Given the description of an element on the screen output the (x, y) to click on. 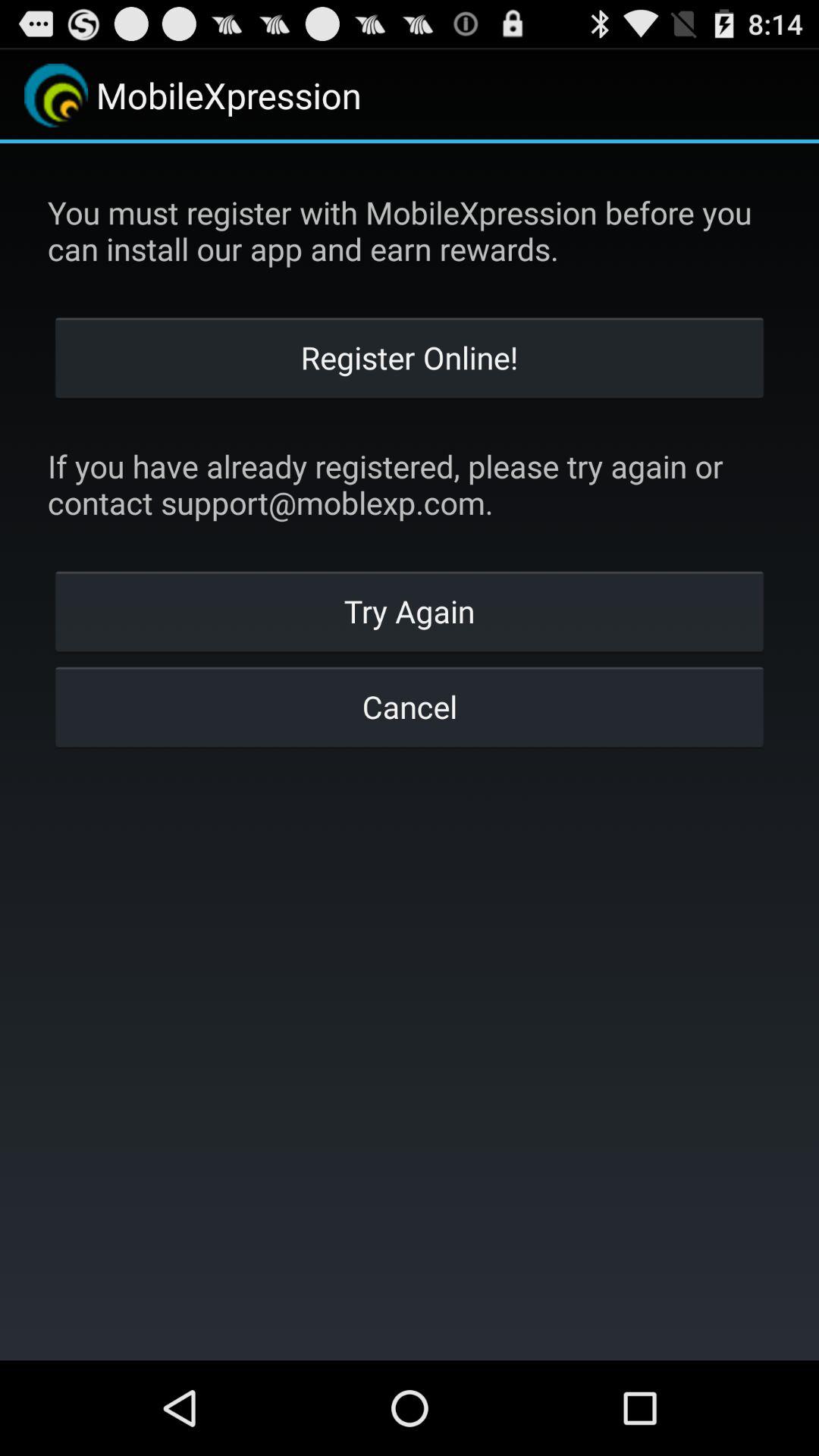
scroll to cancel icon (409, 706)
